Given the description of an element on the screen output the (x, y) to click on. 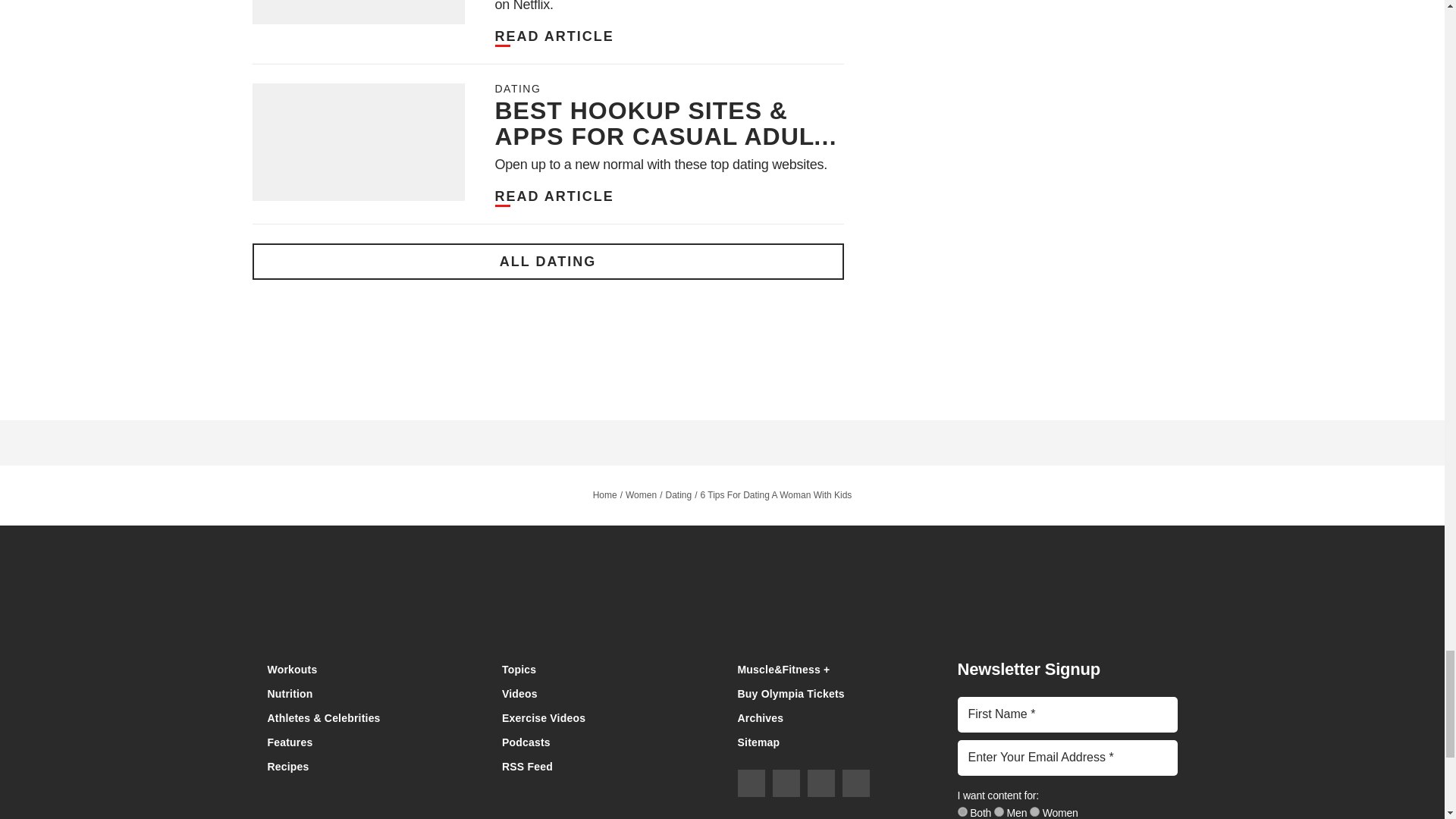
Muscle and Fitness on Facebook (750, 782)
711 (961, 811)
Home (721, 610)
715 (1034, 811)
713 (999, 811)
